Given the description of an element on the screen output the (x, y) to click on. 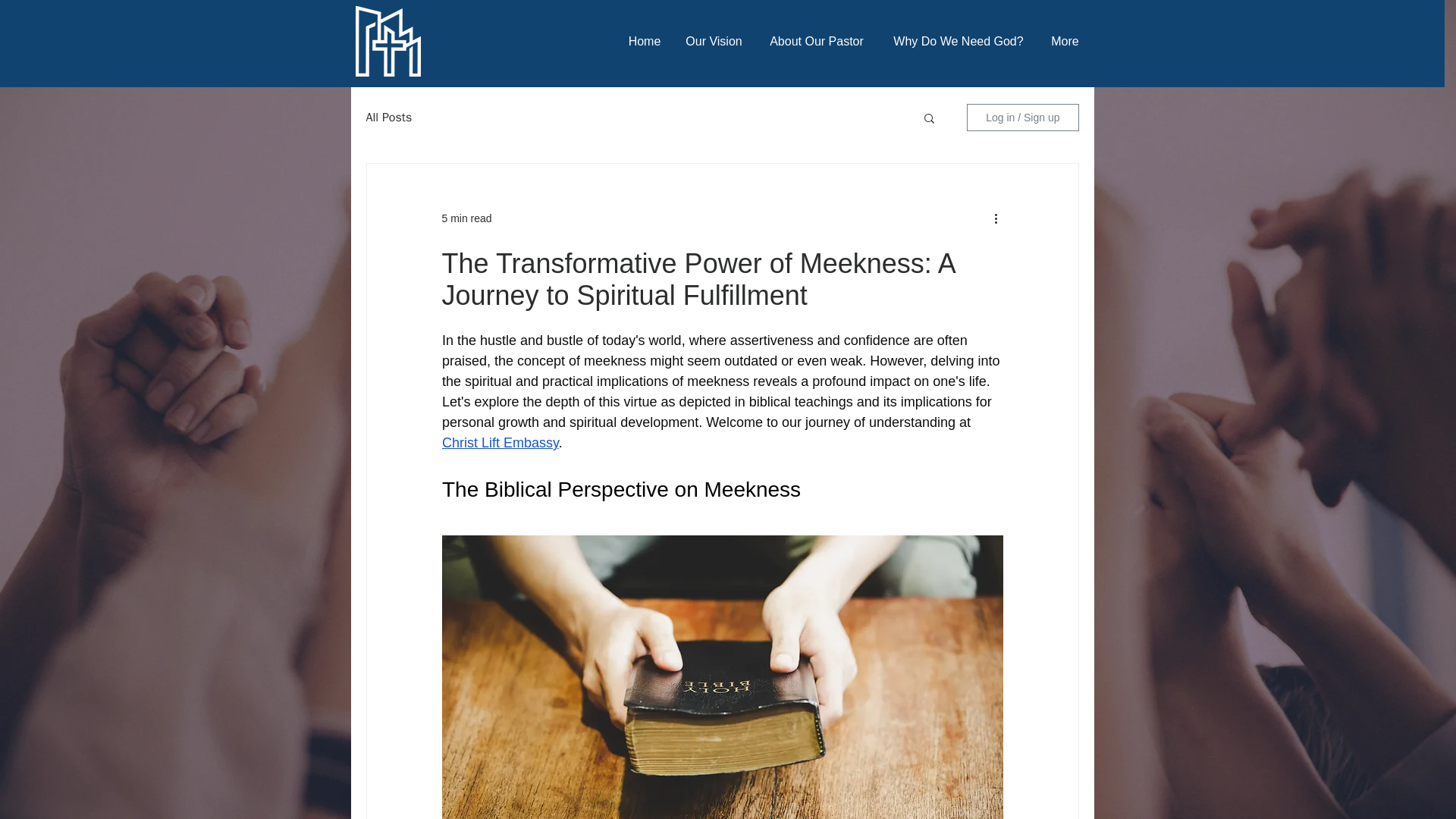
5 min read (466, 218)
Why Do We Need God? (957, 41)
Christ Lift Embassy (499, 442)
Our Vision (713, 41)
All Posts (388, 116)
Home (643, 41)
About Our Pastor (817, 41)
